Given the description of an element on the screen output the (x, y) to click on. 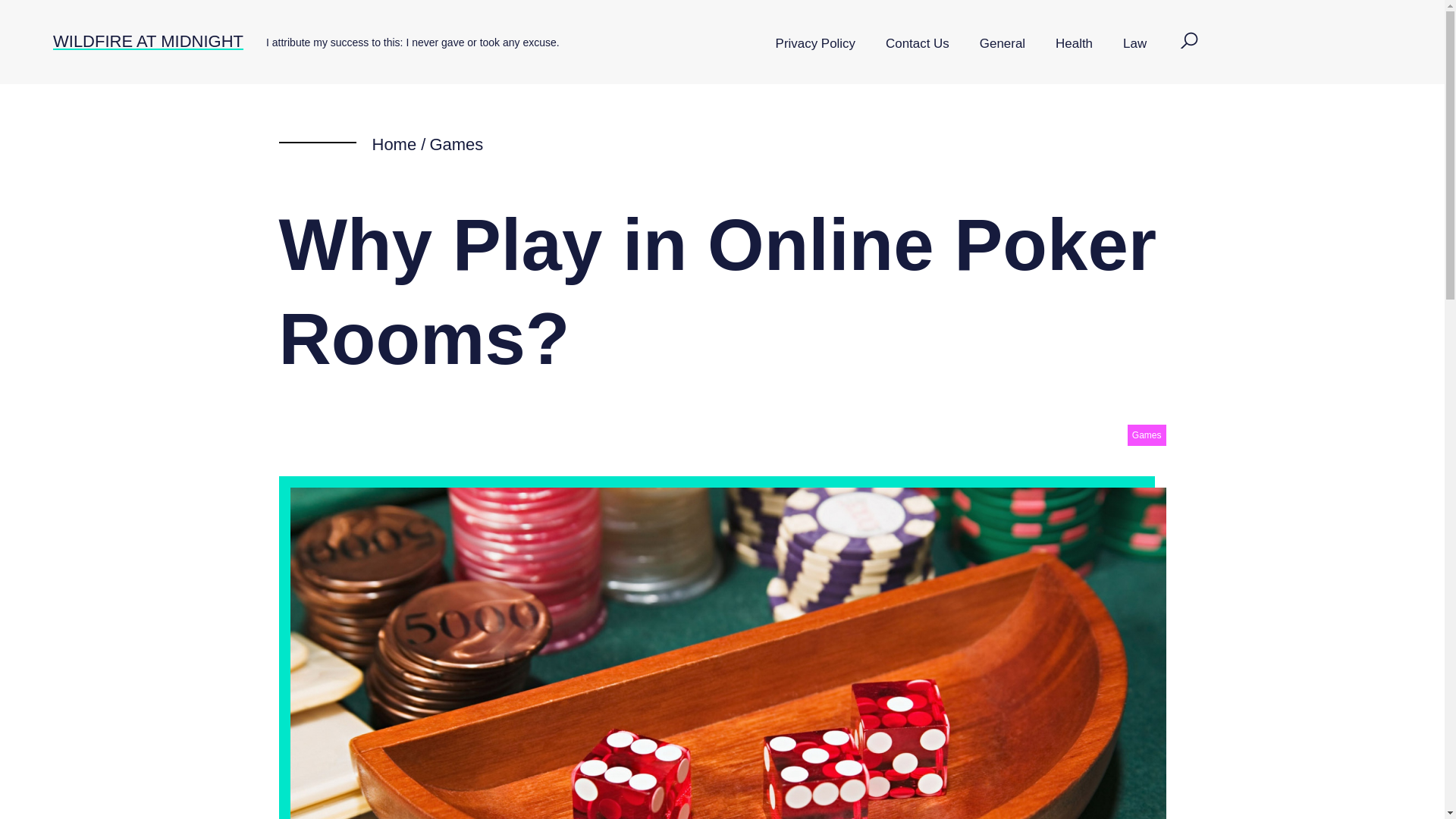
Contact Us (916, 43)
Games (1146, 435)
General (1002, 43)
Games (456, 144)
Home (393, 144)
Health (1074, 43)
WILDFIRE AT MIDNIGHT (147, 40)
Privacy Policy (815, 43)
